Given the description of an element on the screen output the (x, y) to click on. 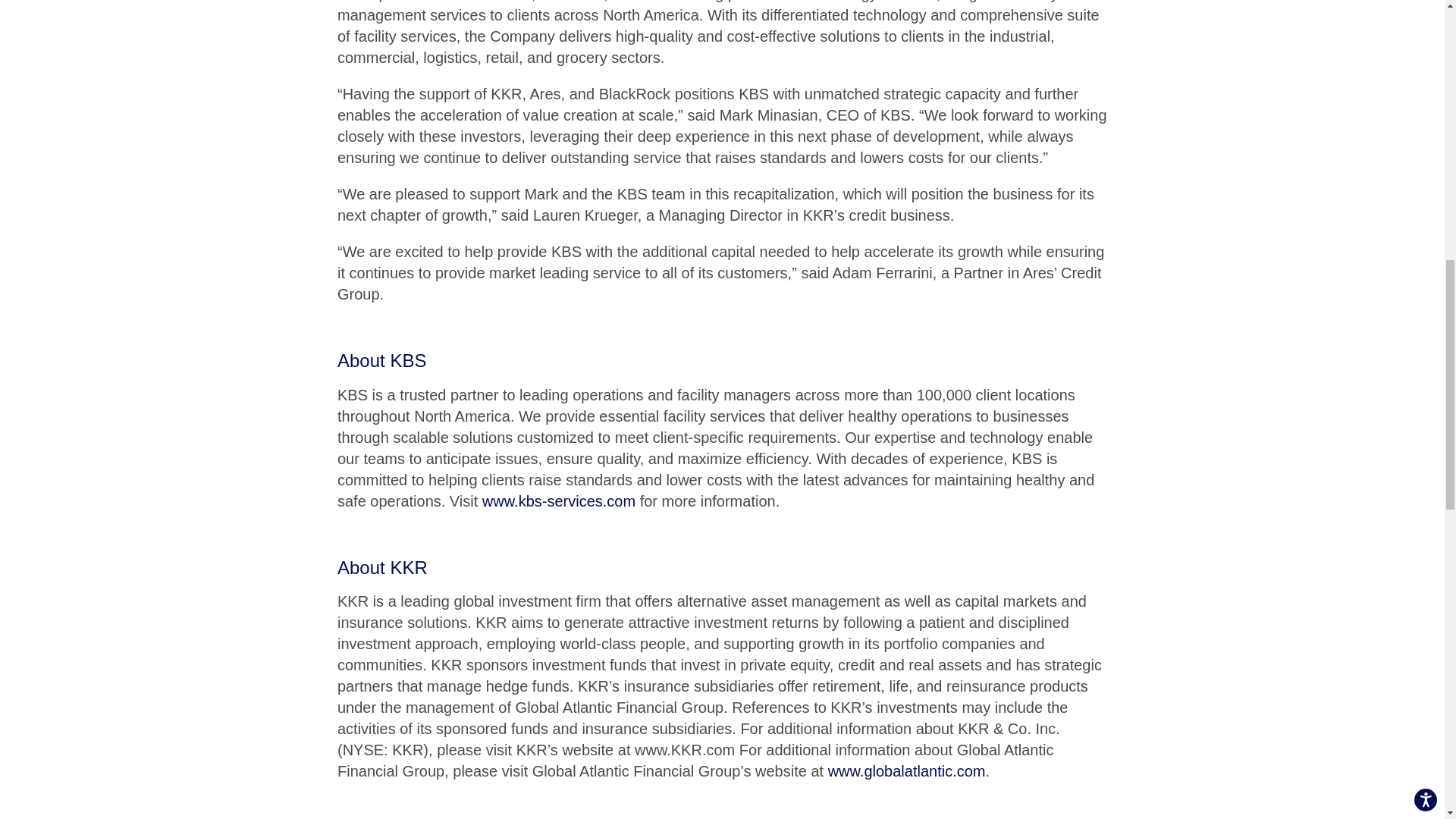
www.globalatlantic.com (906, 770)
www.kbs-services.com (557, 501)
